Given the description of an element on the screen output the (x, y) to click on. 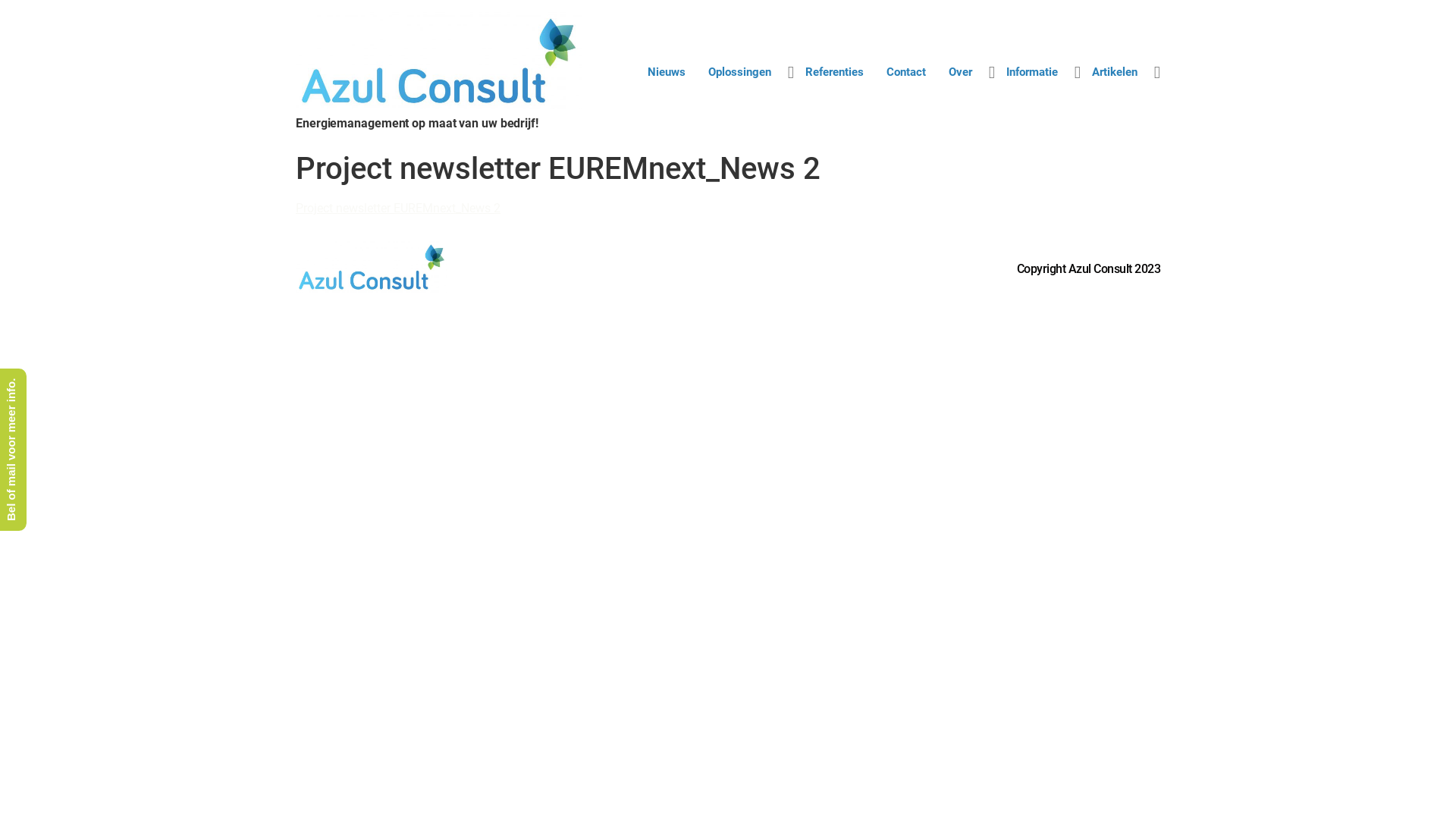
Informatie Element type: text (1031, 72)
Project newsletter EUREMnext_News 2 Element type: text (397, 207)
Oplossingen Element type: text (739, 72)
Nieuws Element type: text (666, 72)
Artikelen Element type: text (1114, 72)
Contact Element type: text (906, 72)
Over Element type: text (960, 72)
Referenties Element type: text (834, 72)
